Given the description of an element on the screen output the (x, y) to click on. 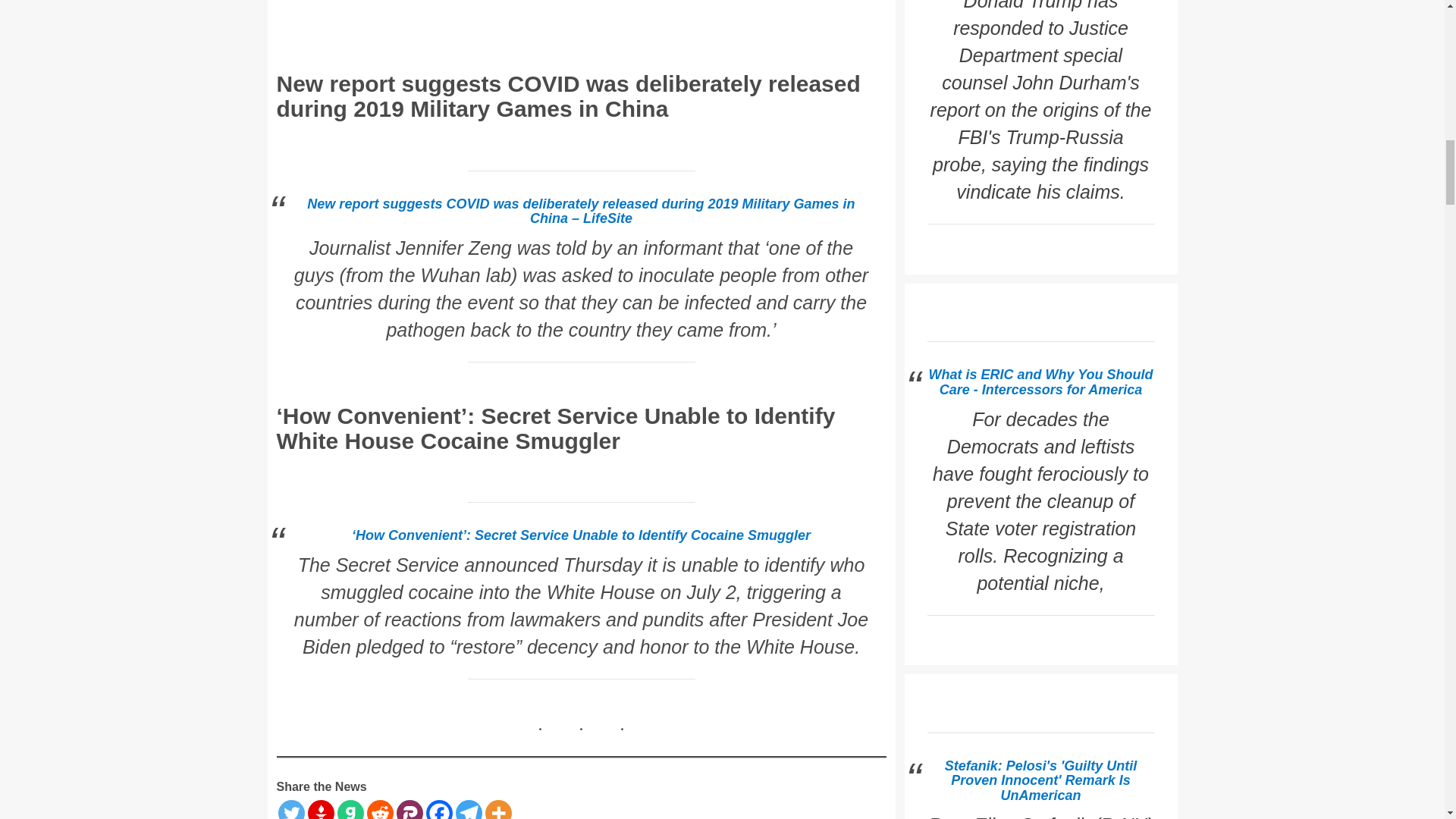
Gab (349, 809)
Parler (409, 809)
Reddit (379, 809)
Facebook (439, 809)
Twitter (291, 809)
Telegram (467, 809)
More (498, 809)
Gettr (320, 809)
